Given the description of an element on the screen output the (x, y) to click on. 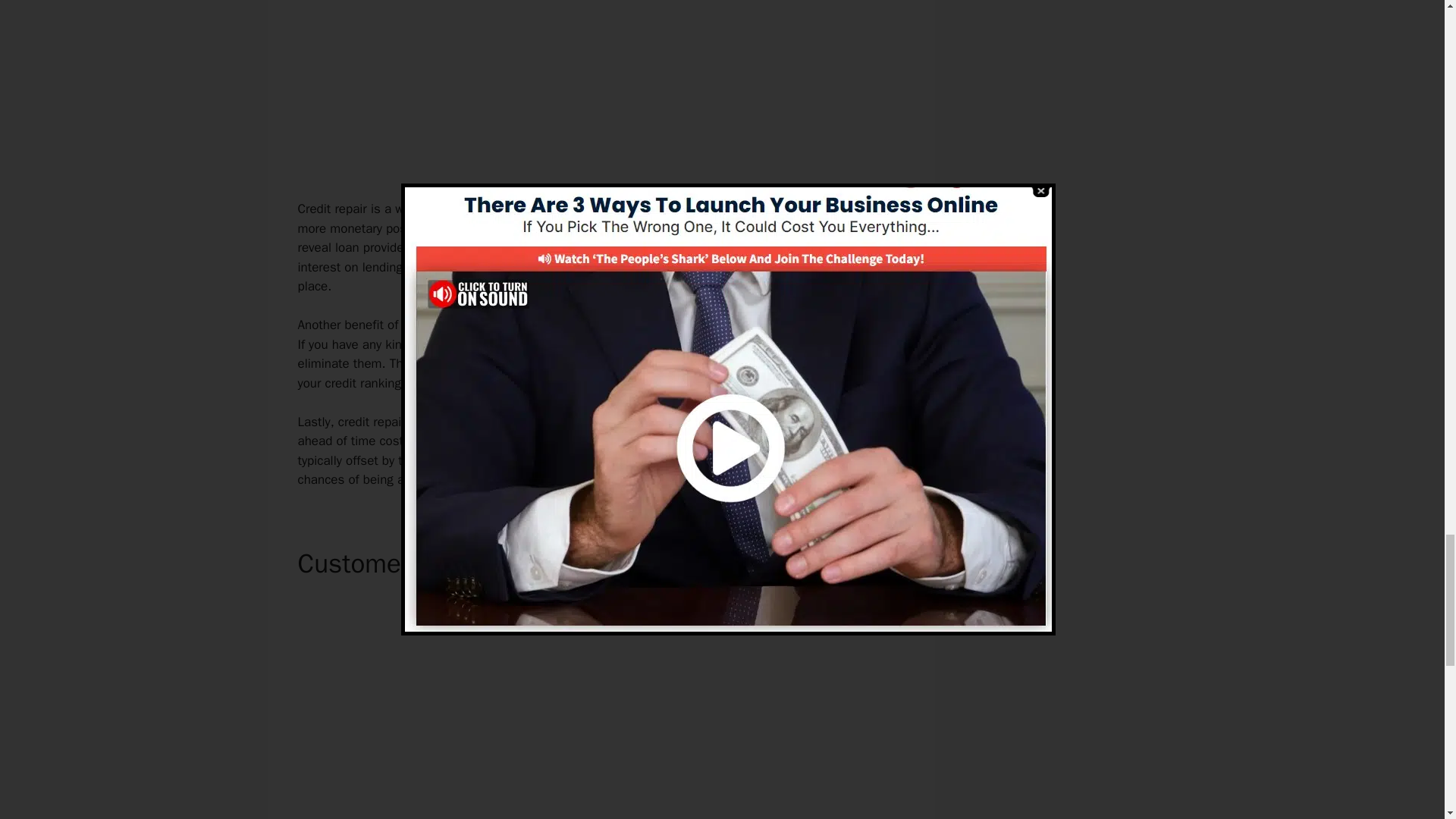
credit repair experts (606, 440)
